Given the description of an element on the screen output the (x, y) to click on. 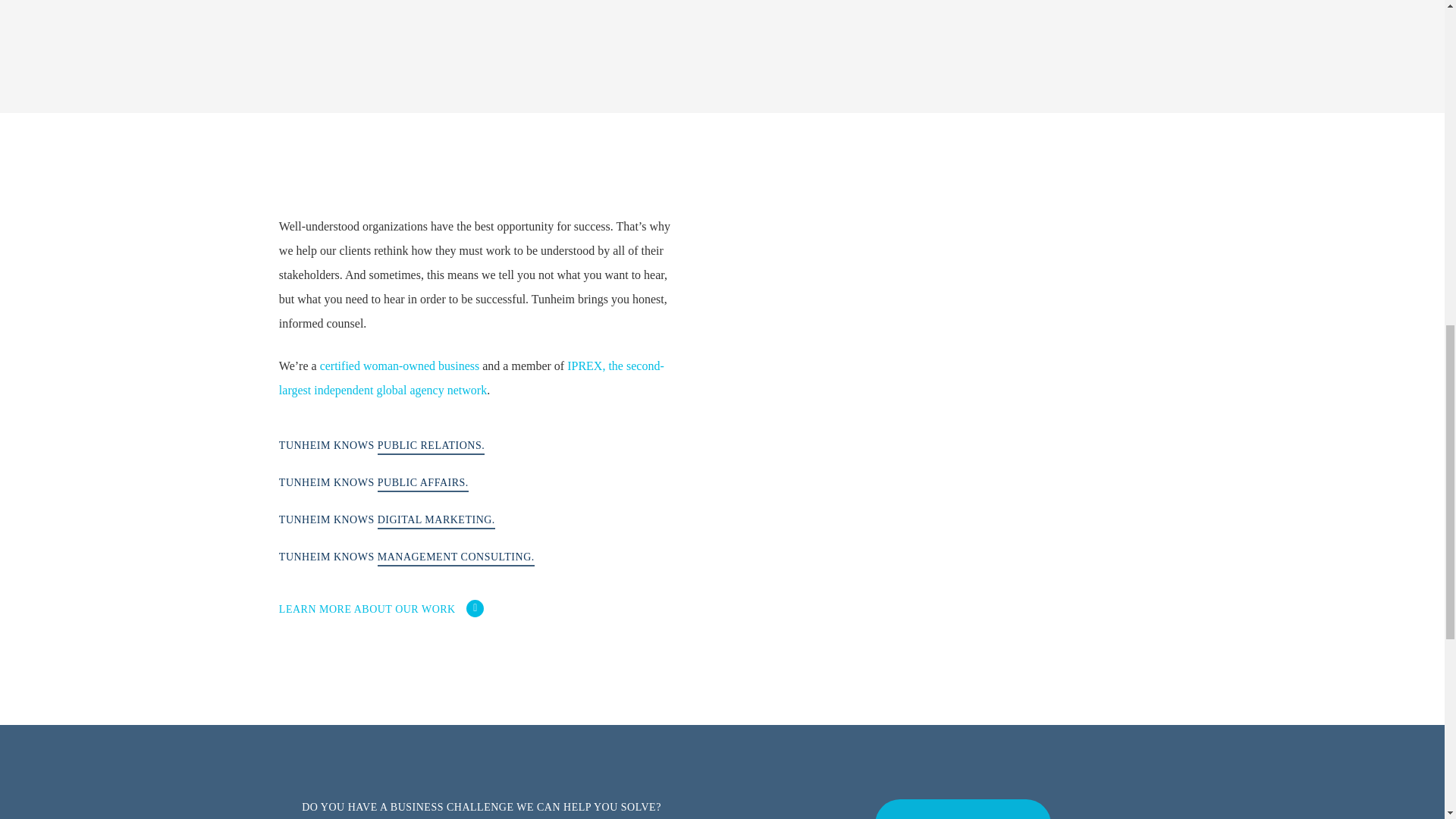
IPREX, the second-largest independent global agency network (471, 377)
certified woman-owned business (400, 365)
PUBLIC RELATIONS. (430, 445)
